Given the description of an element on the screen output the (x, y) to click on. 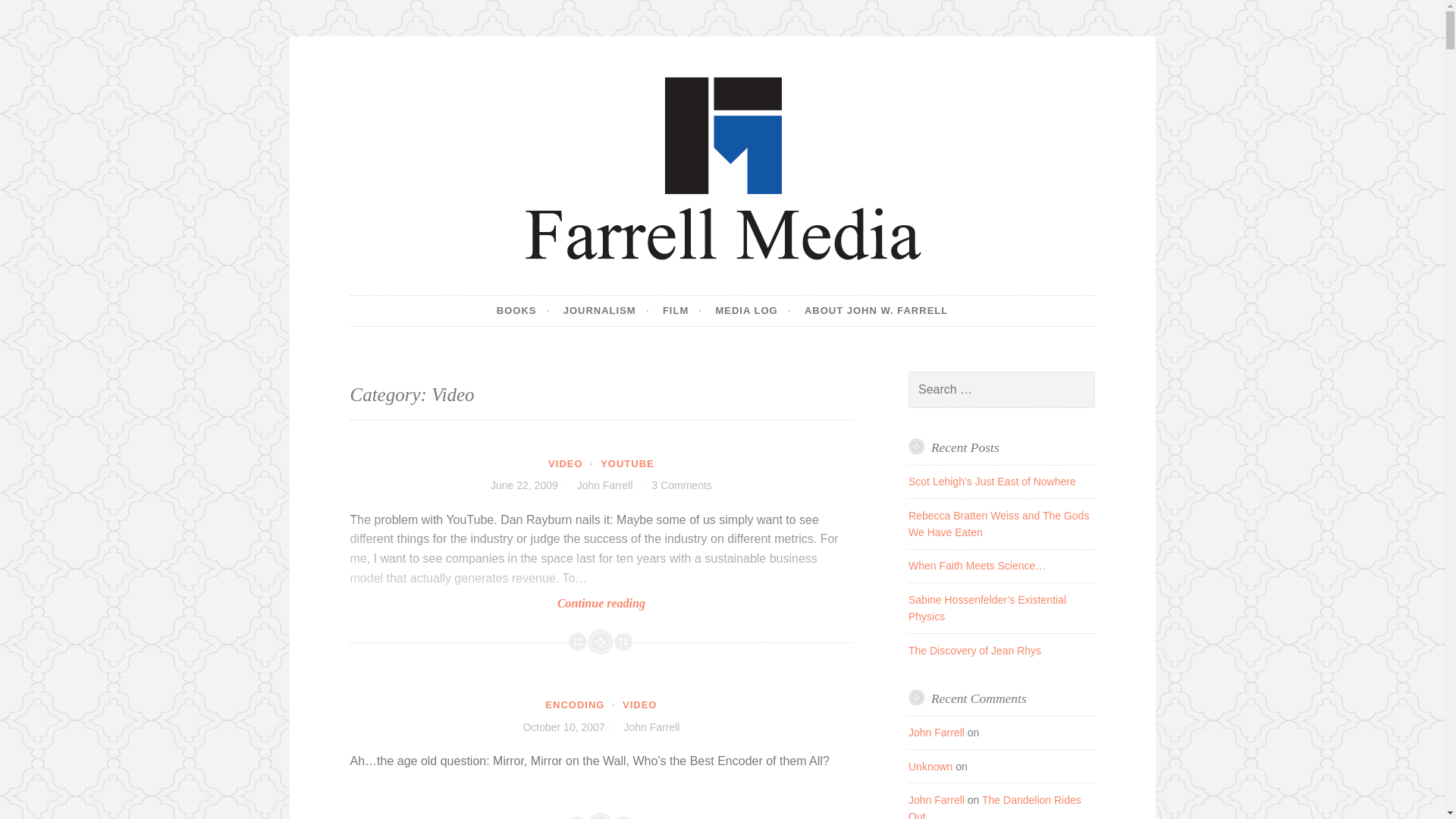
Search (33, 13)
John Farrell (651, 727)
Continue reading (601, 564)
John Farrell (604, 485)
FILM (681, 310)
VIDEO (565, 463)
Unknown (930, 766)
JOURNALISM (606, 310)
The Dandelion Rides Out (994, 806)
YOUTUBE (626, 463)
John Farrell (935, 732)
3 Comments (680, 485)
VIDEO (639, 704)
ENCODING (574, 704)
